Given the description of an element on the screen output the (x, y) to click on. 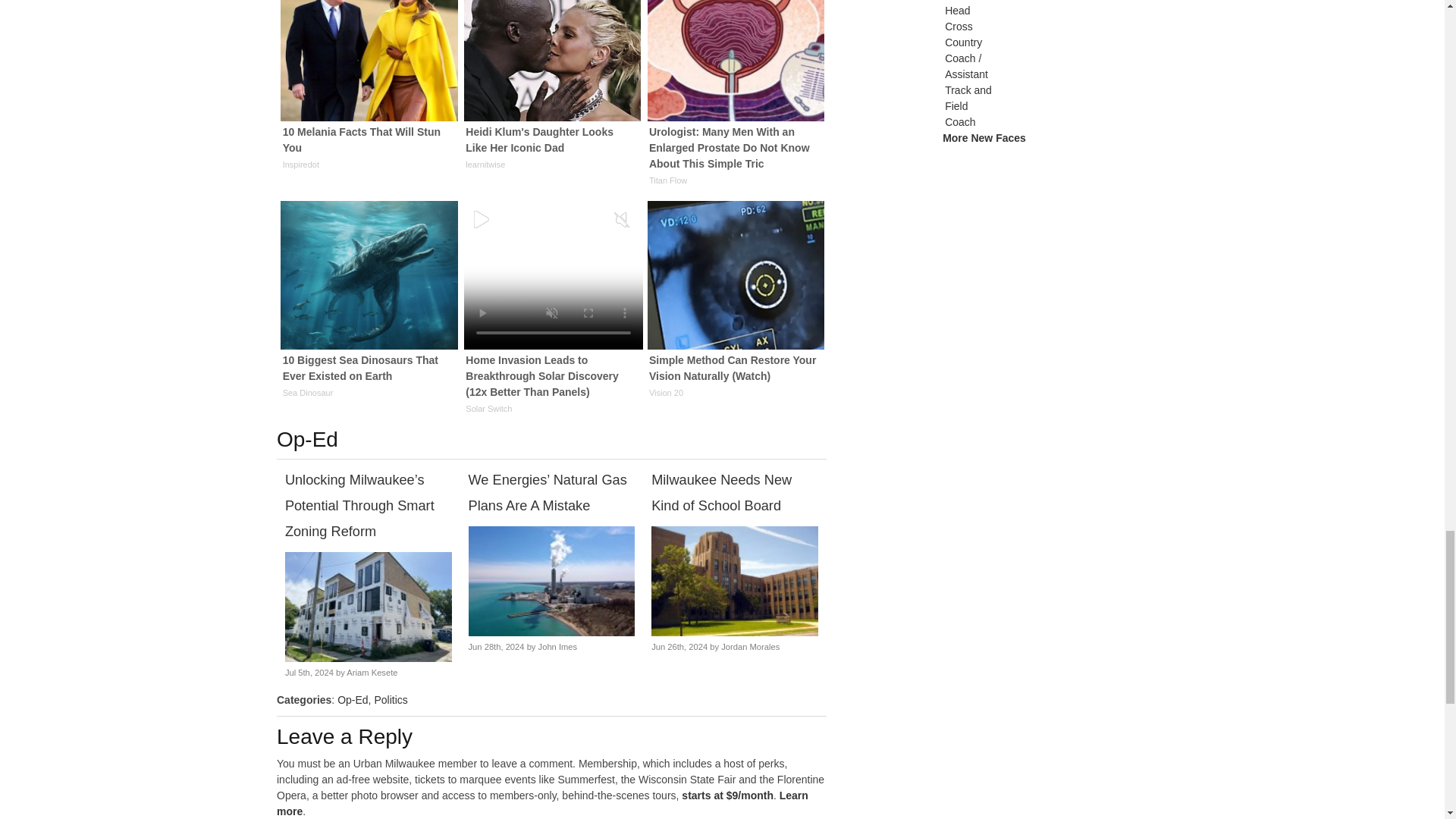
Op-Ed (352, 699)
Politics (390, 699)
10 Melania Facts That Will Stun You (368, 90)
Heidi Klum's Daughter Looks Like Her Iconic Dad (552, 90)
